Given the description of an element on the screen output the (x, y) to click on. 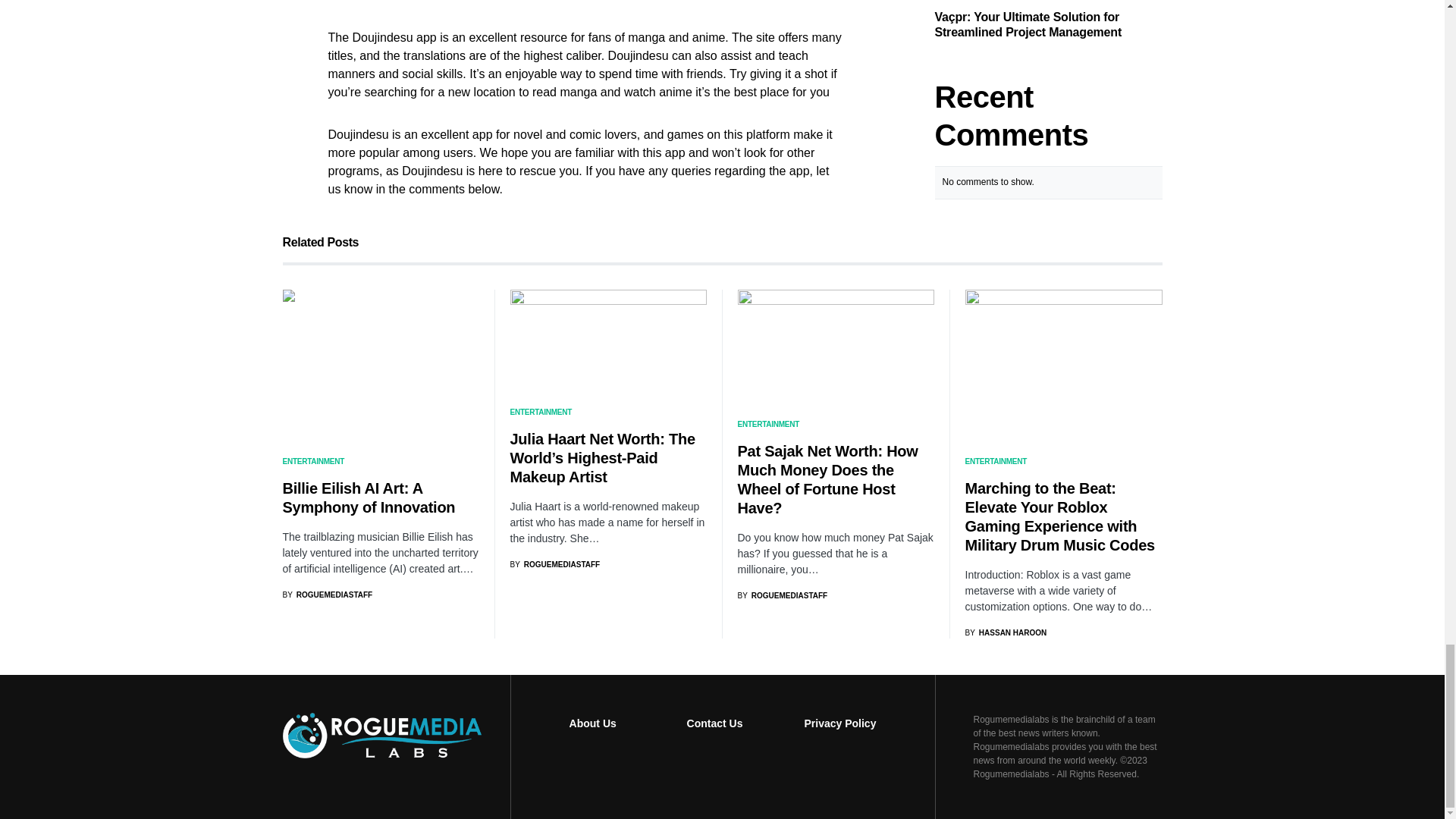
View all posts by RogueMediaStaff (781, 595)
View all posts by RogueMediaStaff (554, 564)
View all posts by RogueMediaStaff (327, 594)
View all posts by hassan haroon (1004, 632)
